Given the description of an element on the screen output the (x, y) to click on. 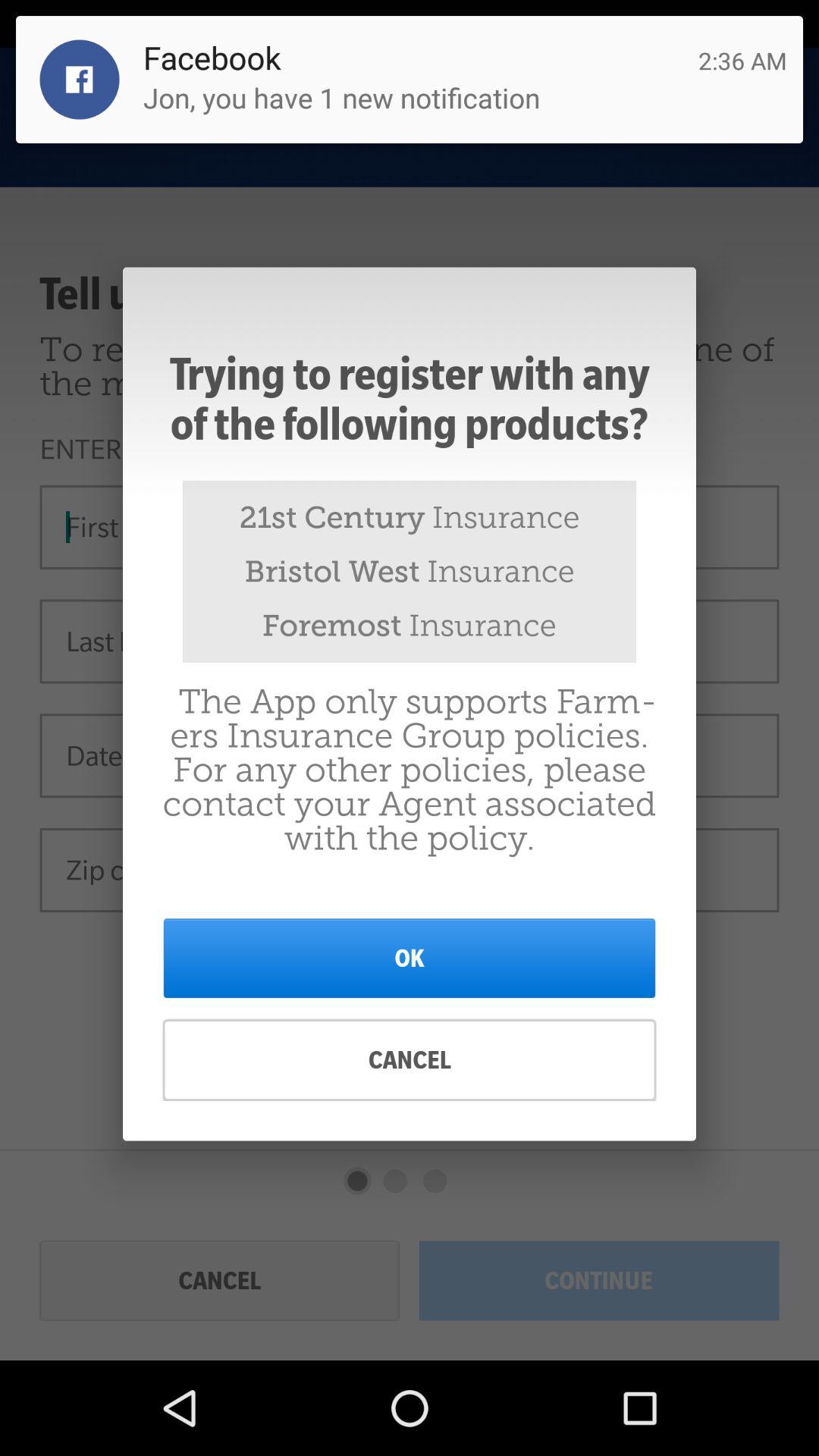
select cancel (409, 1060)
